Given the description of an element on the screen output the (x, y) to click on. 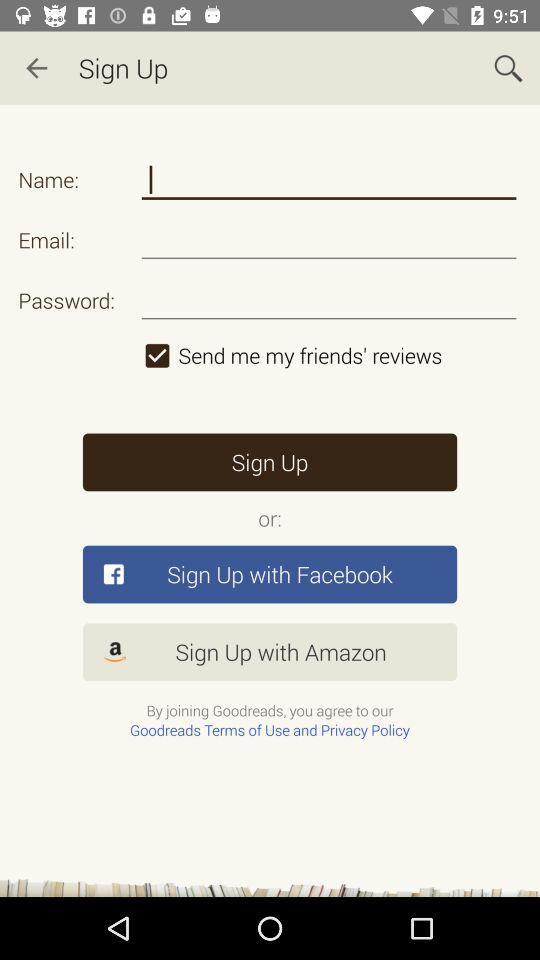
turn on item at the top right corner (508, 67)
